Given the description of an element on the screen output the (x, y) to click on. 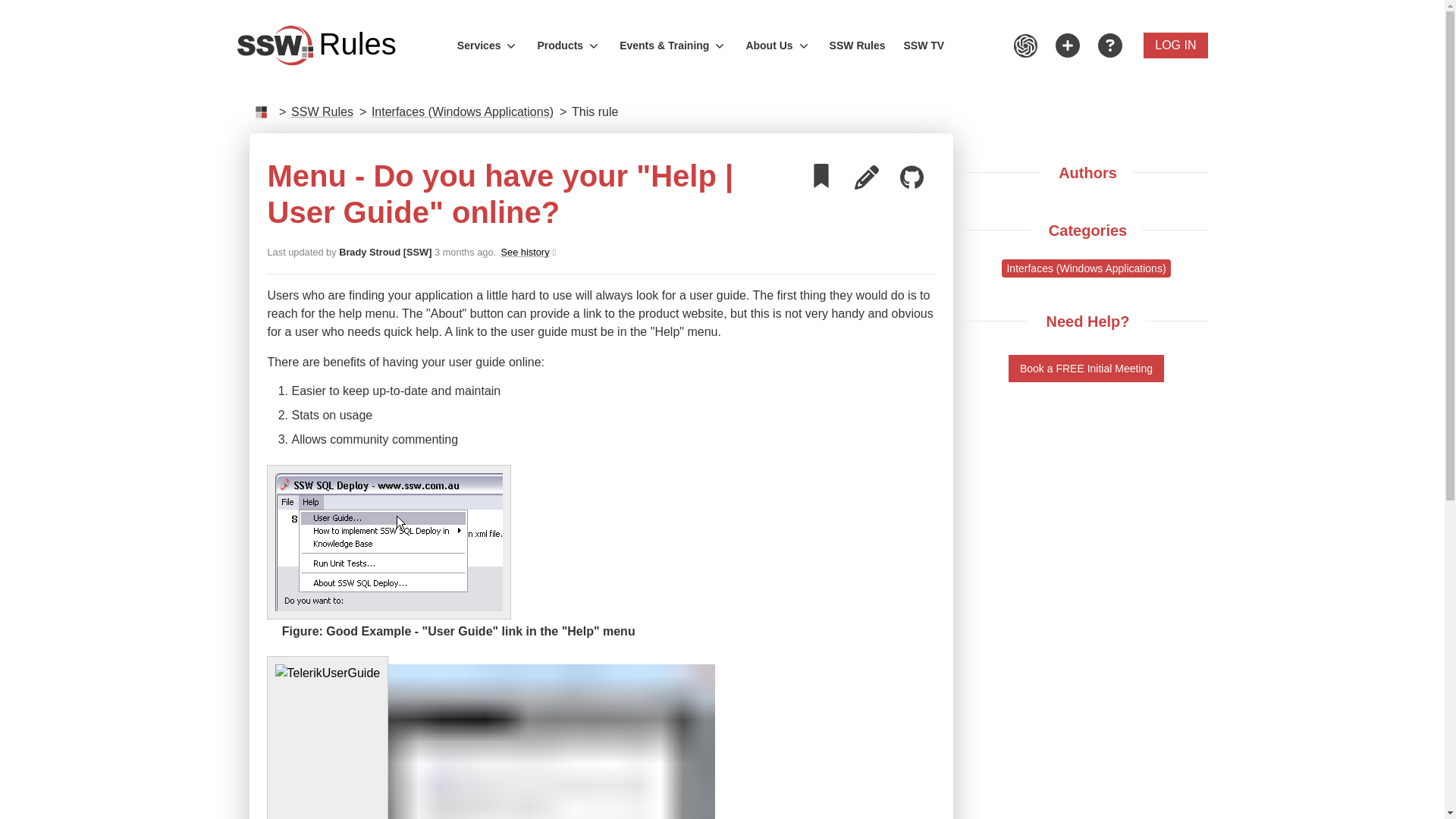
LOG IN (568, 45)
SSW Rules (1174, 45)
SSW TV (858, 45)
See history (924, 45)
SSW Rules (315, 45)
